Given the description of an element on the screen output the (x, y) to click on. 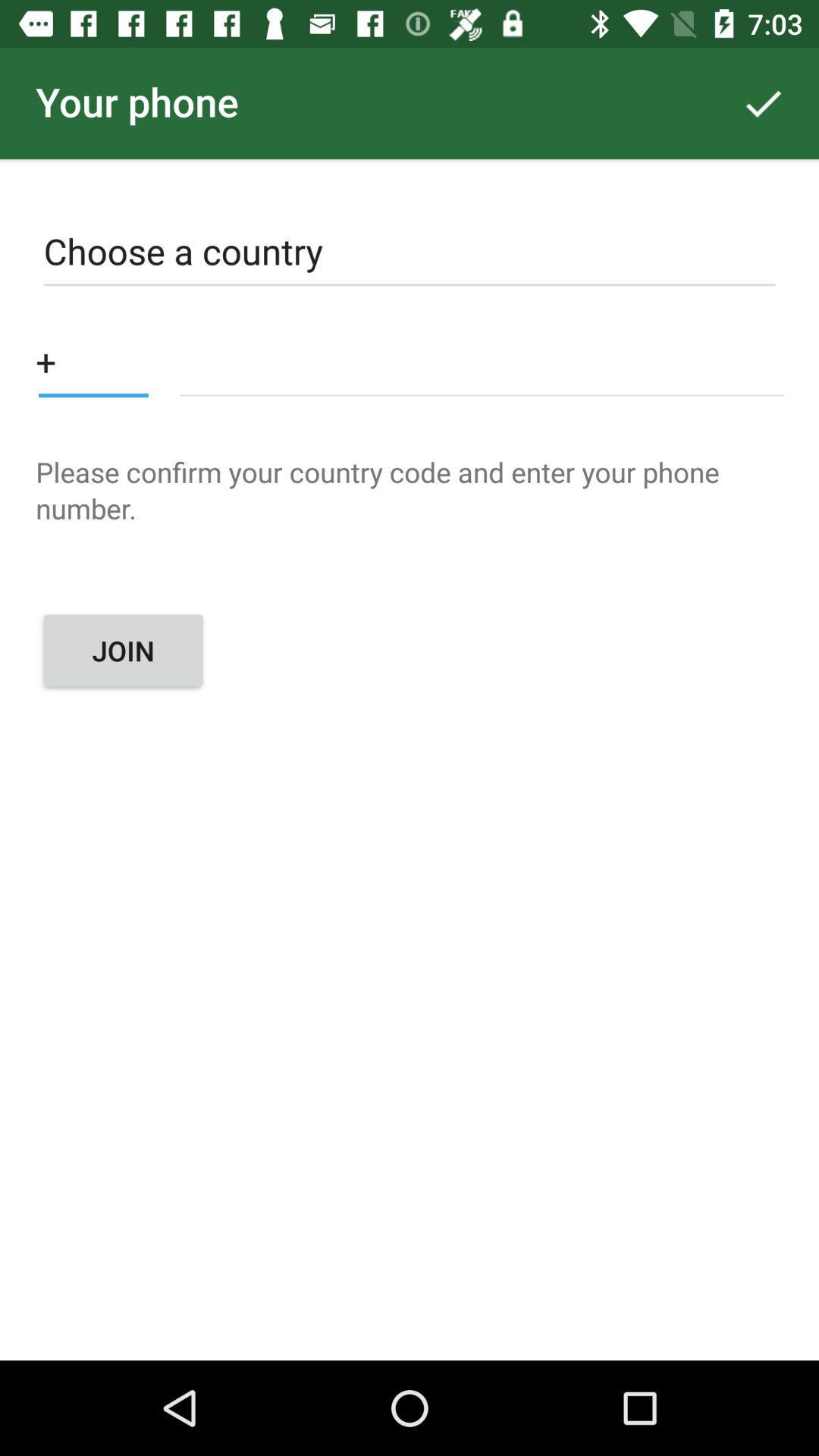
launch the icon on the left (123, 650)
